Given the description of an element on the screen output the (x, y) to click on. 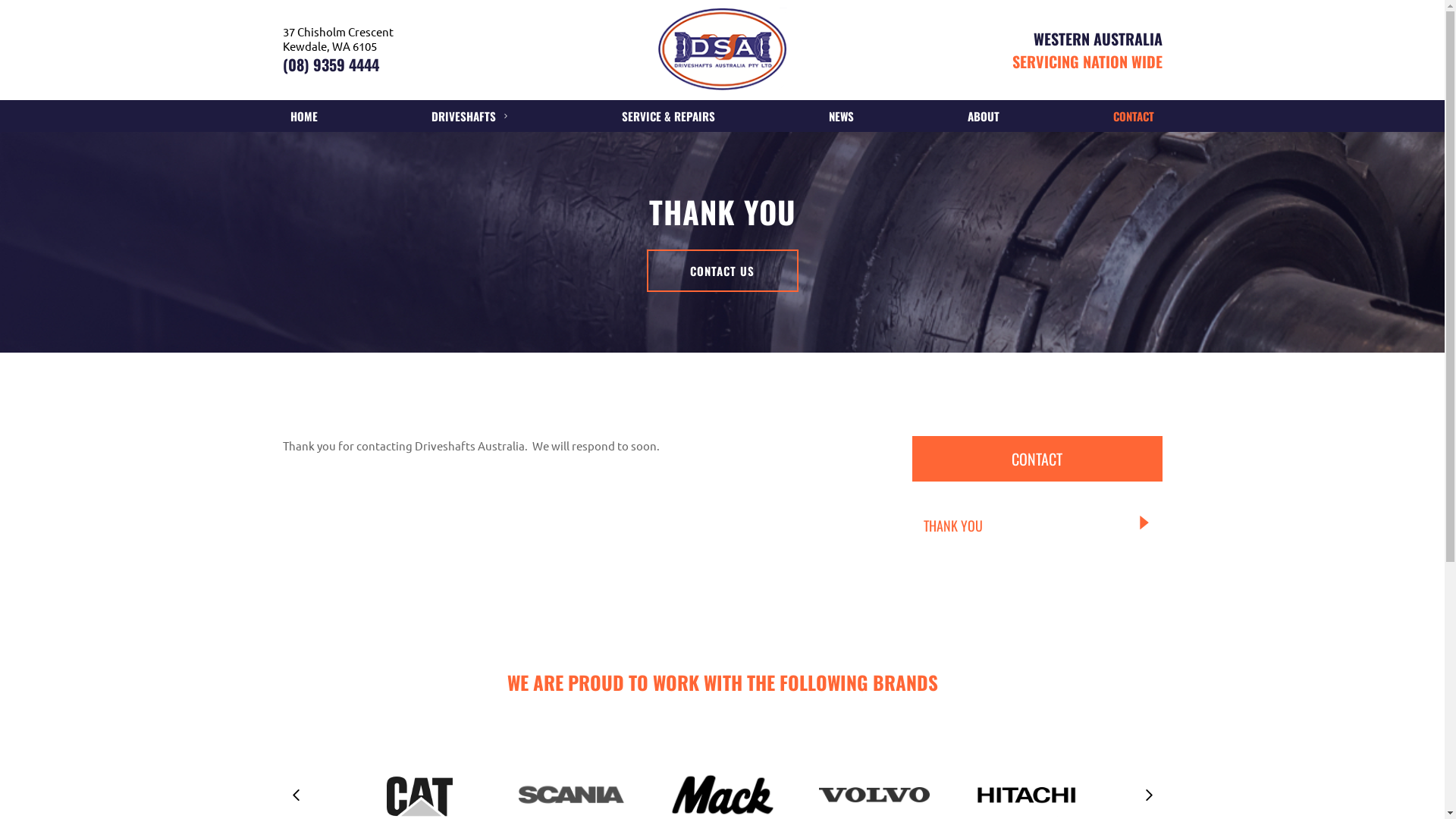
DRIVESHAFTS Element type: text (469, 115)
NEWS Element type: text (841, 115)
(08) 9359 4444 Element type: text (428, 64)
CONTACT US Element type: text (721, 270)
HOME Element type: text (303, 115)
THANK YOU Element type: text (1036, 525)
CONTACT Element type: text (1133, 115)
SERVICE & REPAIRS Element type: text (668, 115)
ABOUT Element type: text (983, 115)
